Given the description of an element on the screen output the (x, y) to click on. 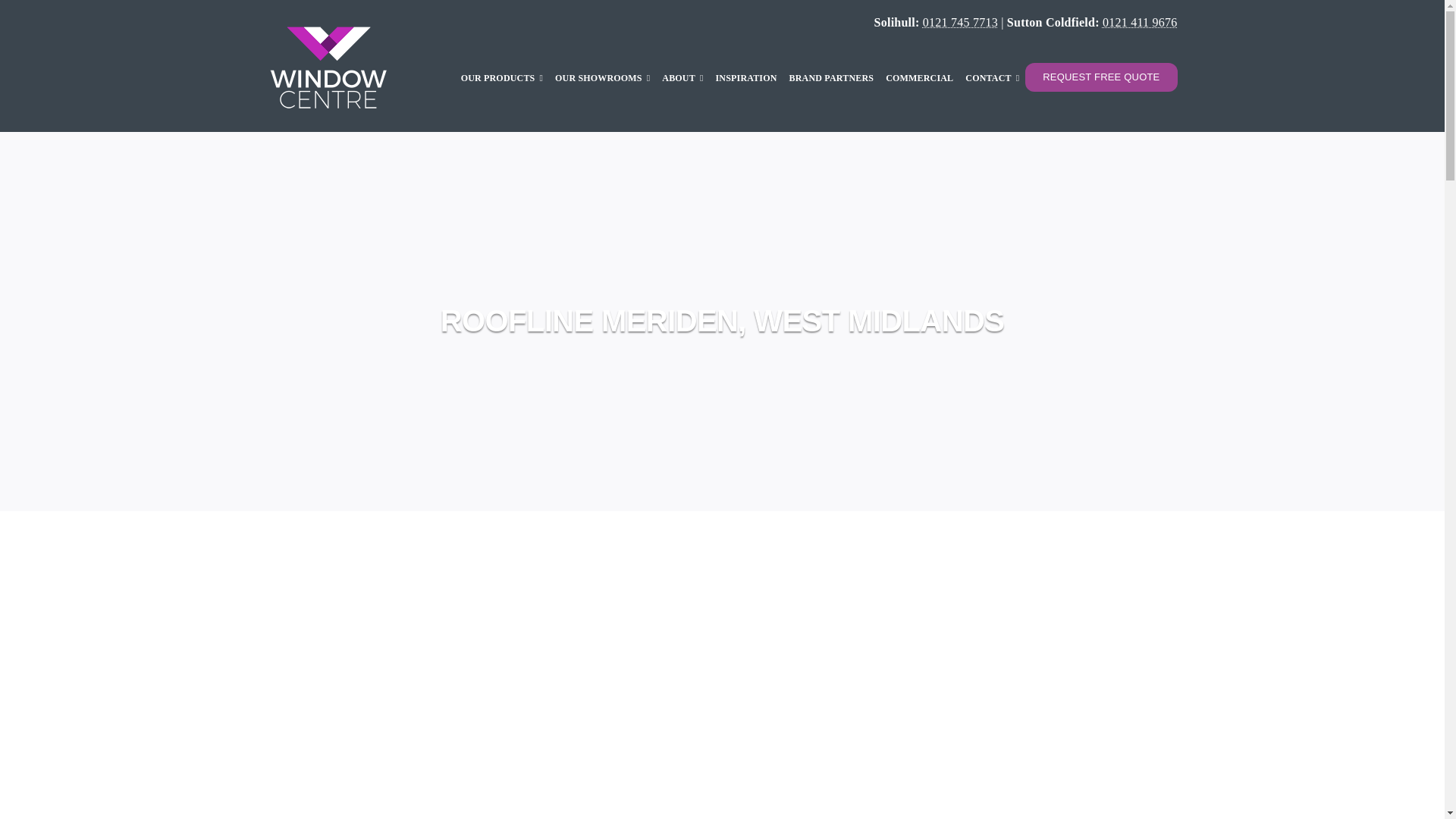
OUR PRODUCTS (501, 77)
INSPIRATION (746, 77)
ABOUT (682, 77)
COMMERCIAL (919, 77)
CONTACT (992, 77)
REQUEST FREE QUOTE (1100, 77)
0121 411 9676 (1139, 21)
OUR SHOWROOMS (602, 77)
0121 745 7713 (960, 21)
BRAND PARTNERS (831, 77)
